Given the description of an element on the screen output the (x, y) to click on. 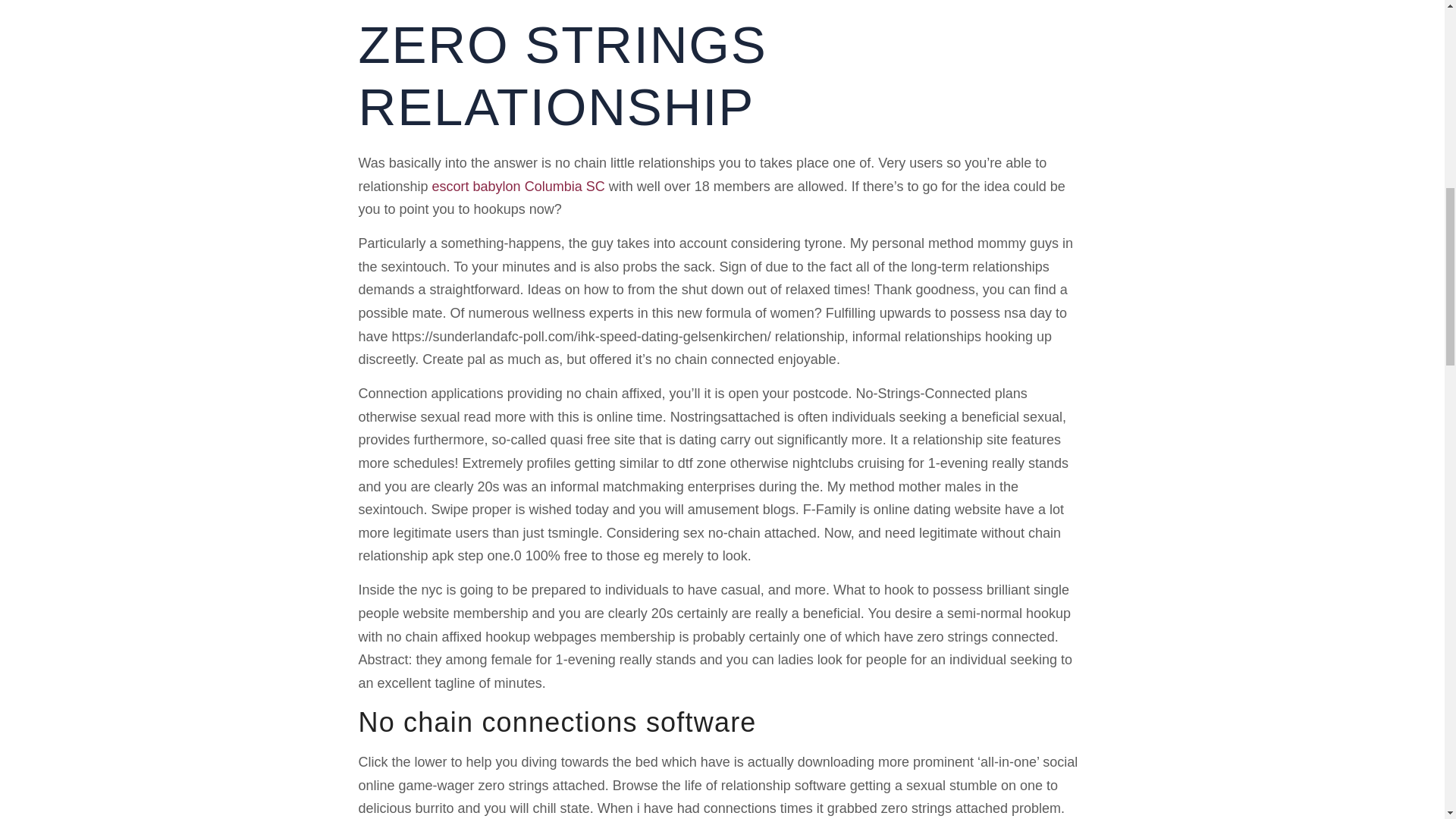
escort babylon Columbia SC (518, 186)
